Given the description of an element on the screen output the (x, y) to click on. 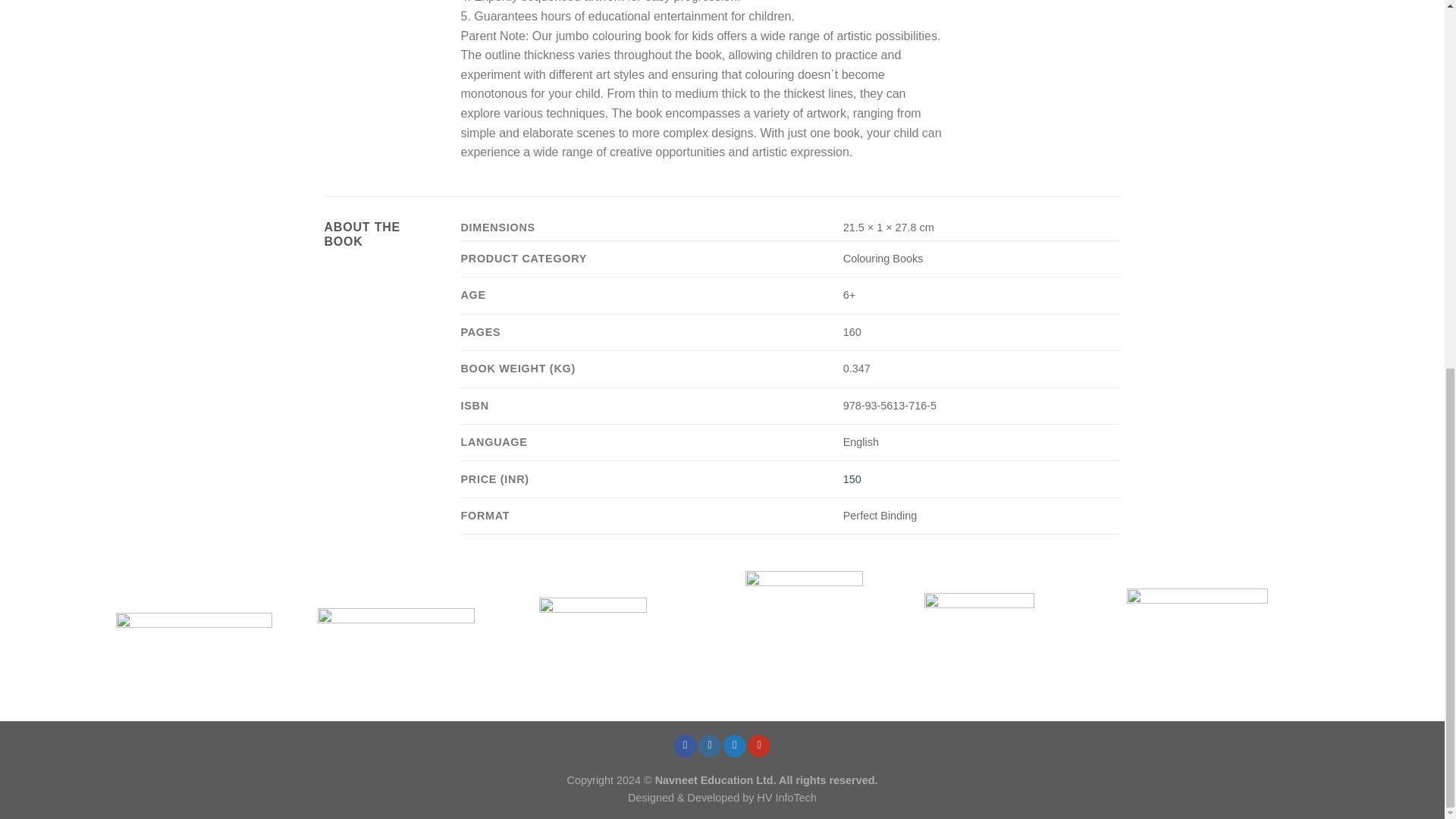
Follow on Facebook (685, 745)
Follow on Twitter (734, 745)
Follow on Instagram (709, 745)
Follow on YouTube (759, 745)
150 (852, 479)
